Given the description of an element on the screen output the (x, y) to click on. 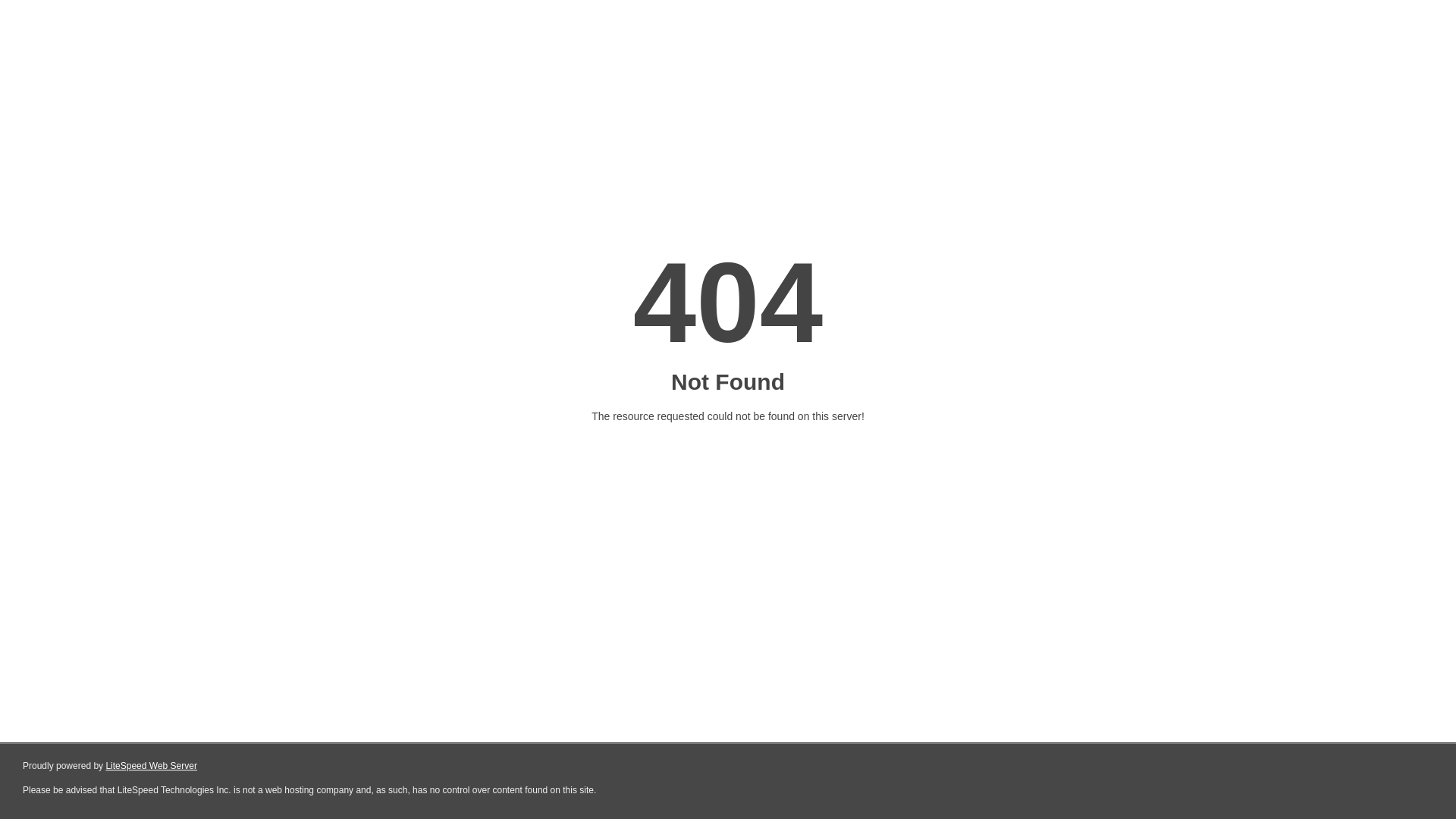
LiteSpeed Web Server Element type: text (151, 765)
